Given the description of an element on the screen output the (x, y) to click on. 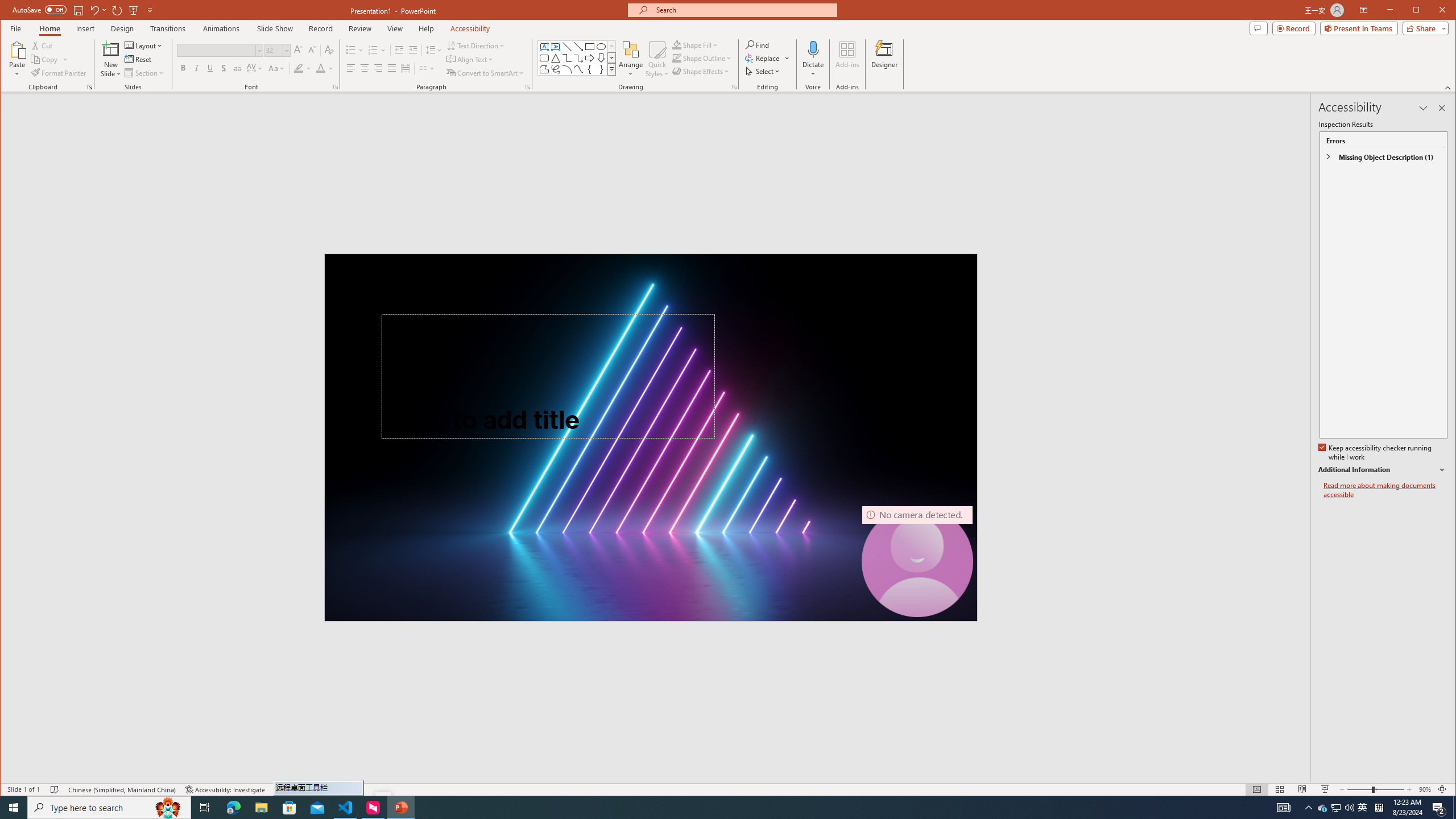
Keep accessibility checker running while I work (1375, 452)
